Given the description of an element on the screen output the (x, y) to click on. 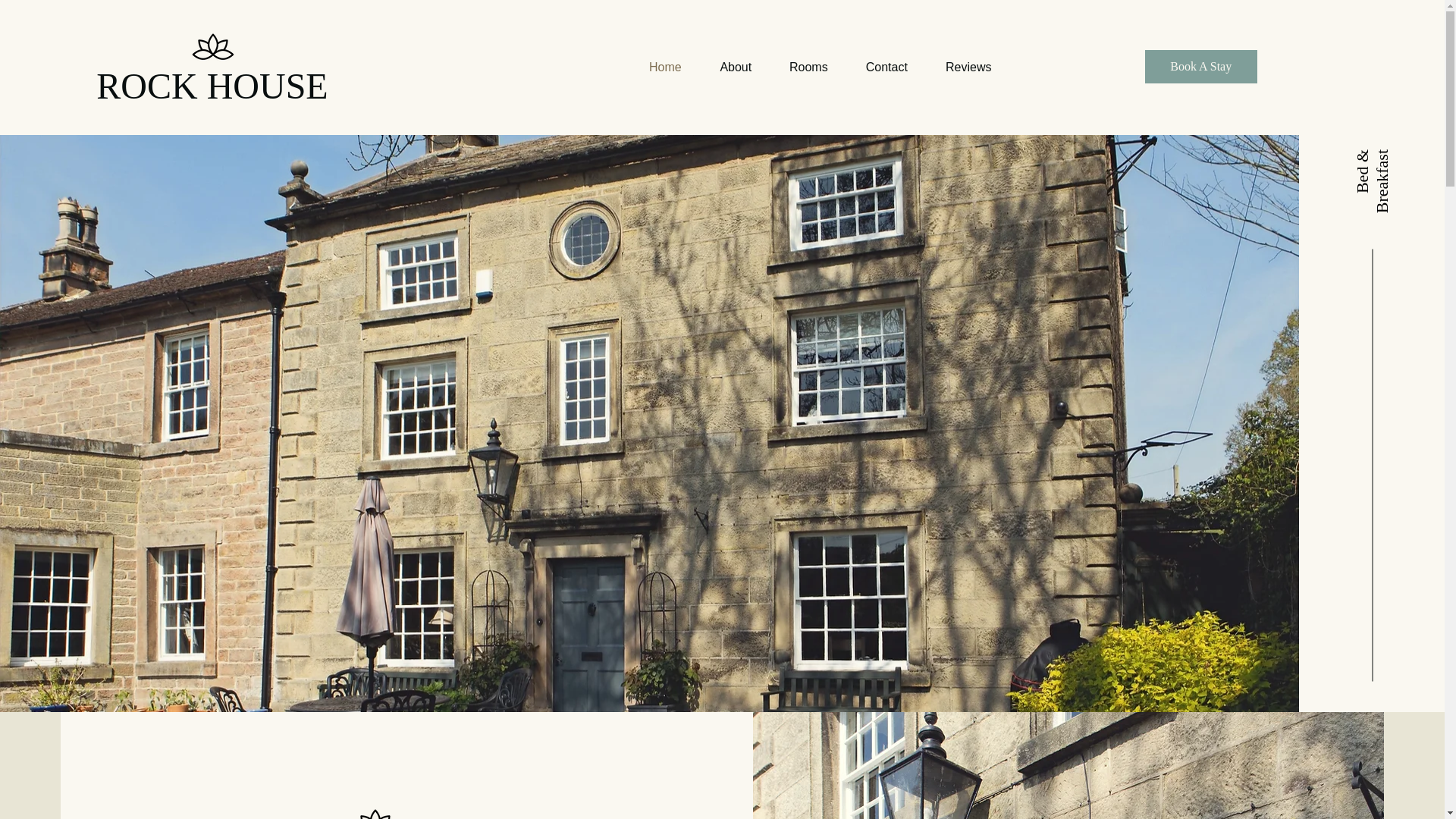
Reviews (968, 67)
About (735, 67)
Book A Stay (1200, 66)
Home (665, 67)
Contact (886, 67)
Rooms (808, 67)
